Given the description of an element on the screen output the (x, y) to click on. 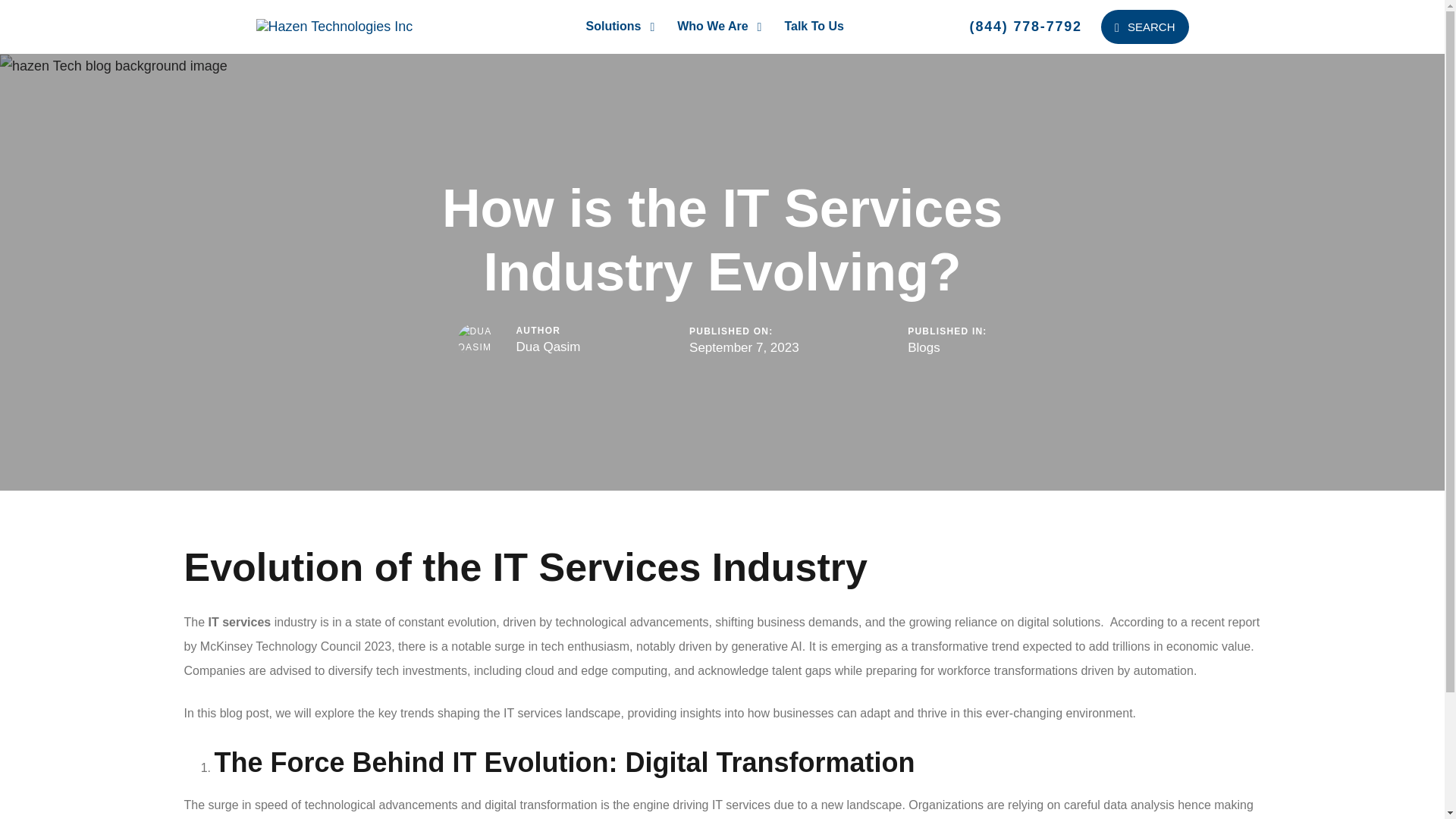
Talk To Us (814, 27)
Solutions (620, 27)
Who We Are (719, 27)
Posts by Dua Qasim (547, 346)
